Given the description of an element on the screen output the (x, y) to click on. 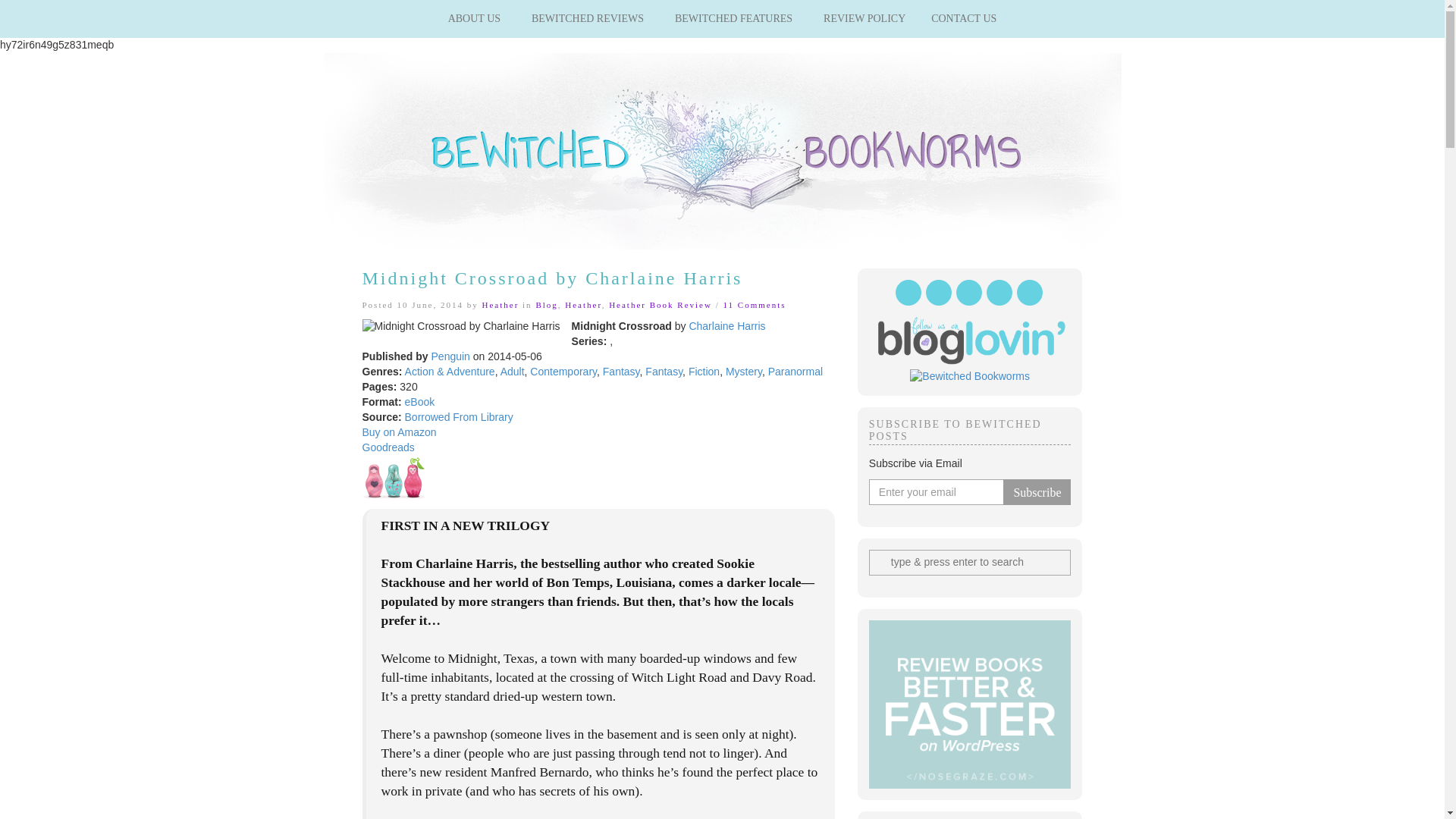
Follow with Pinterest (968, 292)
Subscribe (1036, 492)
Blog (546, 304)
Adult (512, 371)
11 Comments (754, 304)
BEWITCHED FEATURES   (736, 18)
eBook (419, 401)
Fiction (703, 371)
Follow with Twitter (908, 292)
Charlaine Harris (726, 326)
Fantasy (663, 371)
Heather (582, 304)
REVIEW POLICY (864, 18)
View all posts in Blog (546, 304)
CONTACT US (963, 18)
